Given the description of an element on the screen output the (x, y) to click on. 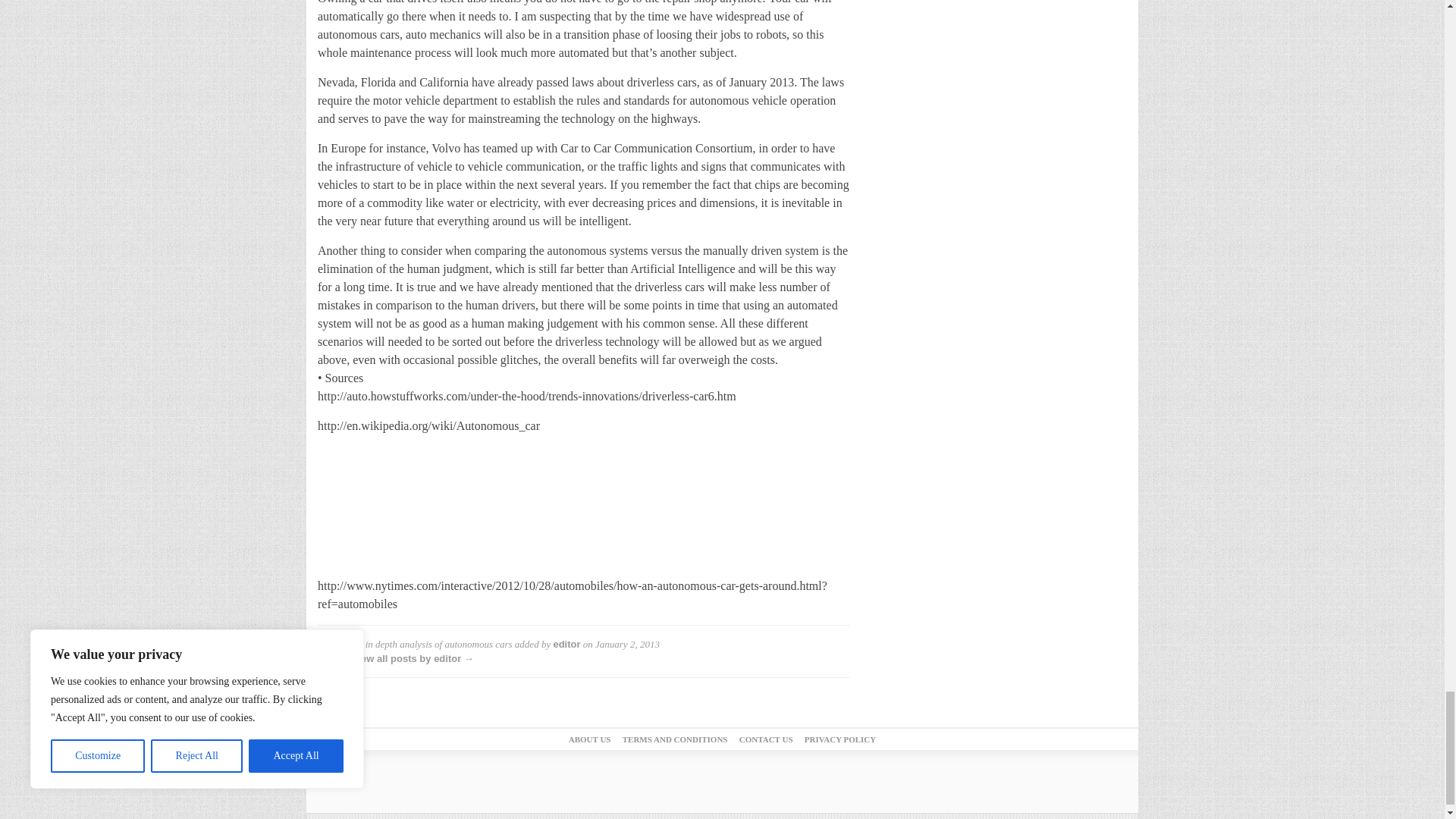
Yes, Driverless Cars Know the Way to San Jose (430, 503)
